Given the description of an element on the screen output the (x, y) to click on. 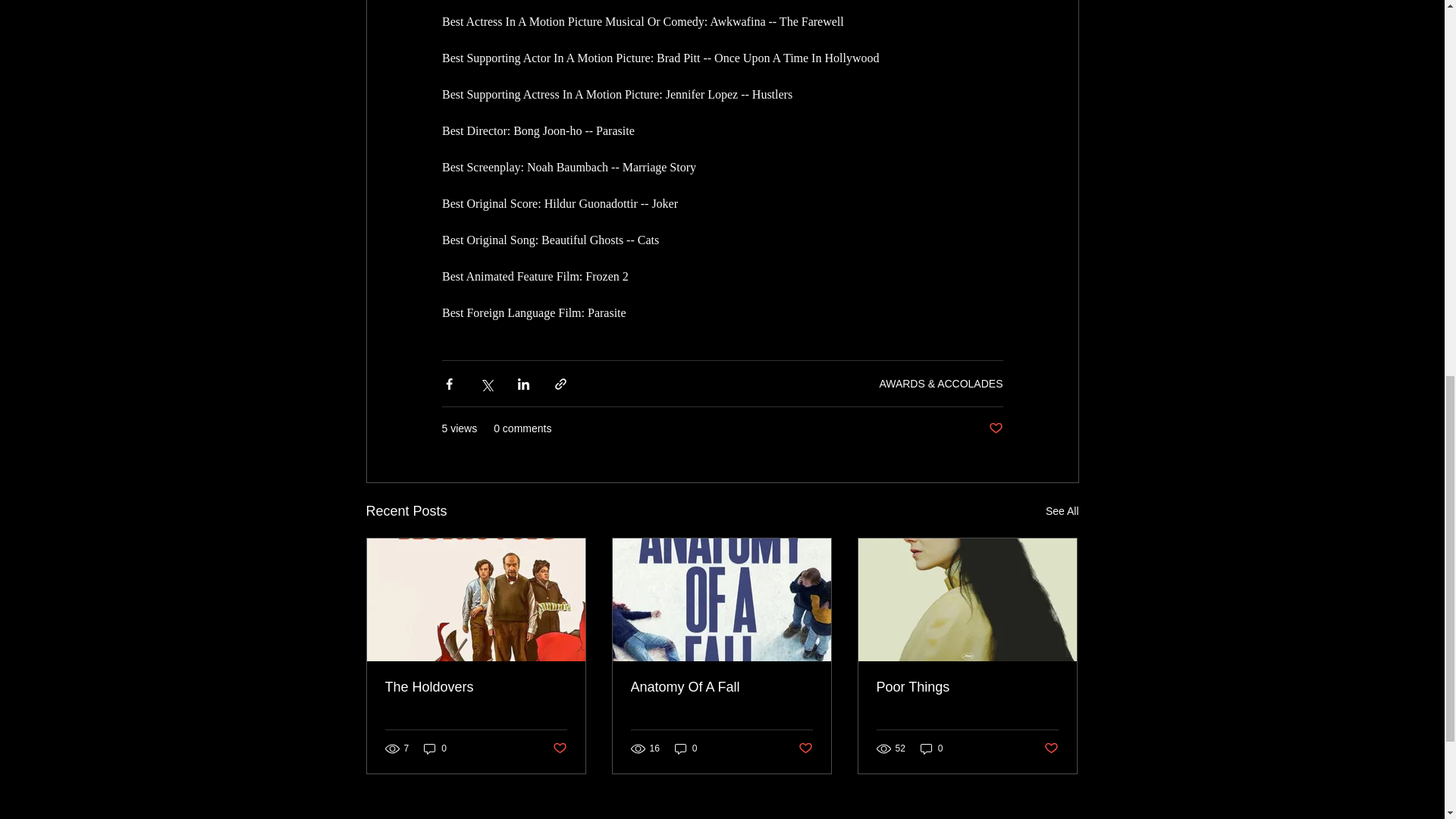
0 (435, 748)
Post not marked as liked (1050, 747)
See All (1061, 511)
0 (685, 748)
Post not marked as liked (804, 747)
0 (931, 748)
Post not marked as liked (995, 428)
Anatomy Of A Fall (721, 687)
Post not marked as liked (558, 747)
Poor Things (967, 687)
The Holdovers (476, 687)
